Given the description of an element on the screen output the (x, y) to click on. 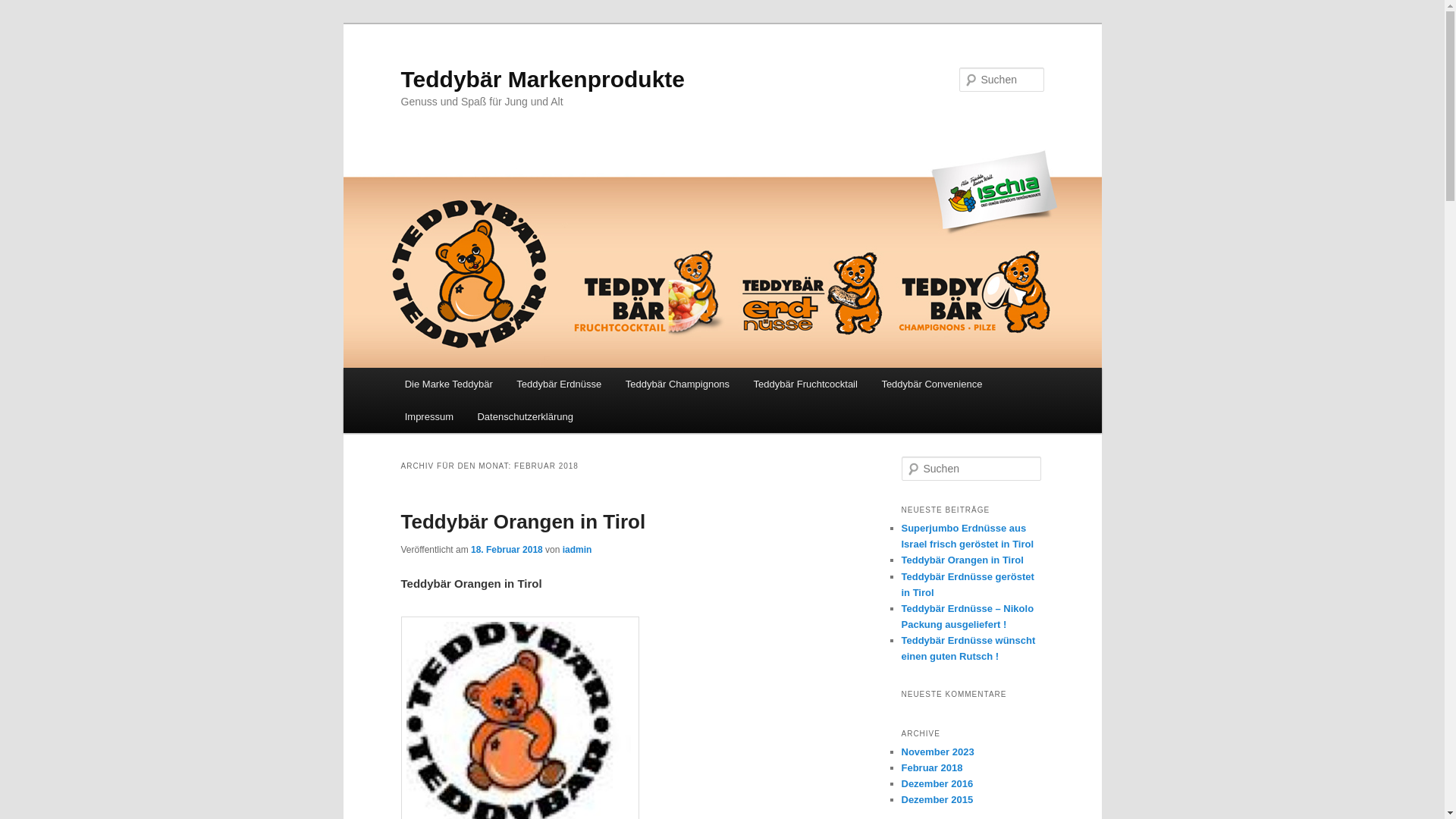
Dezember 2015 Element type: text (936, 799)
Suchen Element type: text (25, 8)
Dezember 2016 Element type: text (936, 783)
18. Februar 2018 Element type: text (506, 549)
November 2023 Element type: text (936, 751)
Suchen Element type: text (21, 10)
Februar 2018 Element type: text (931, 767)
Zum Inhalt wechseln Element type: text (22, 22)
iadmin Element type: text (577, 549)
Impressum Element type: text (428, 416)
